Given the description of an element on the screen output the (x, y) to click on. 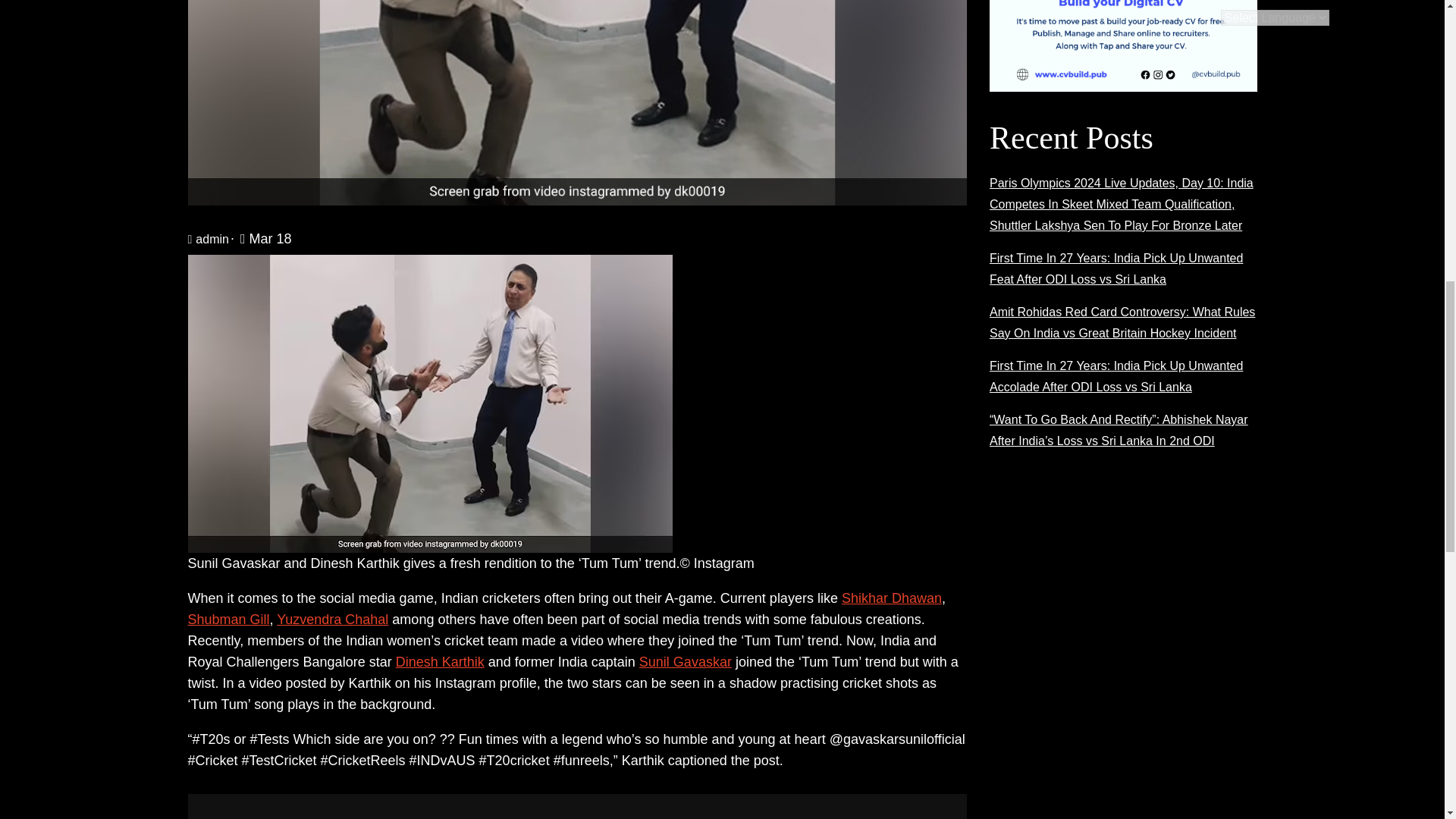
Dinesh Karthik (440, 661)
Shubman Gill (228, 619)
Sunil Gavaskar (685, 661)
Yuzvendra Chahal (332, 619)
Shikhar Dhawan (891, 598)
